Given the description of an element on the screen output the (x, y) to click on. 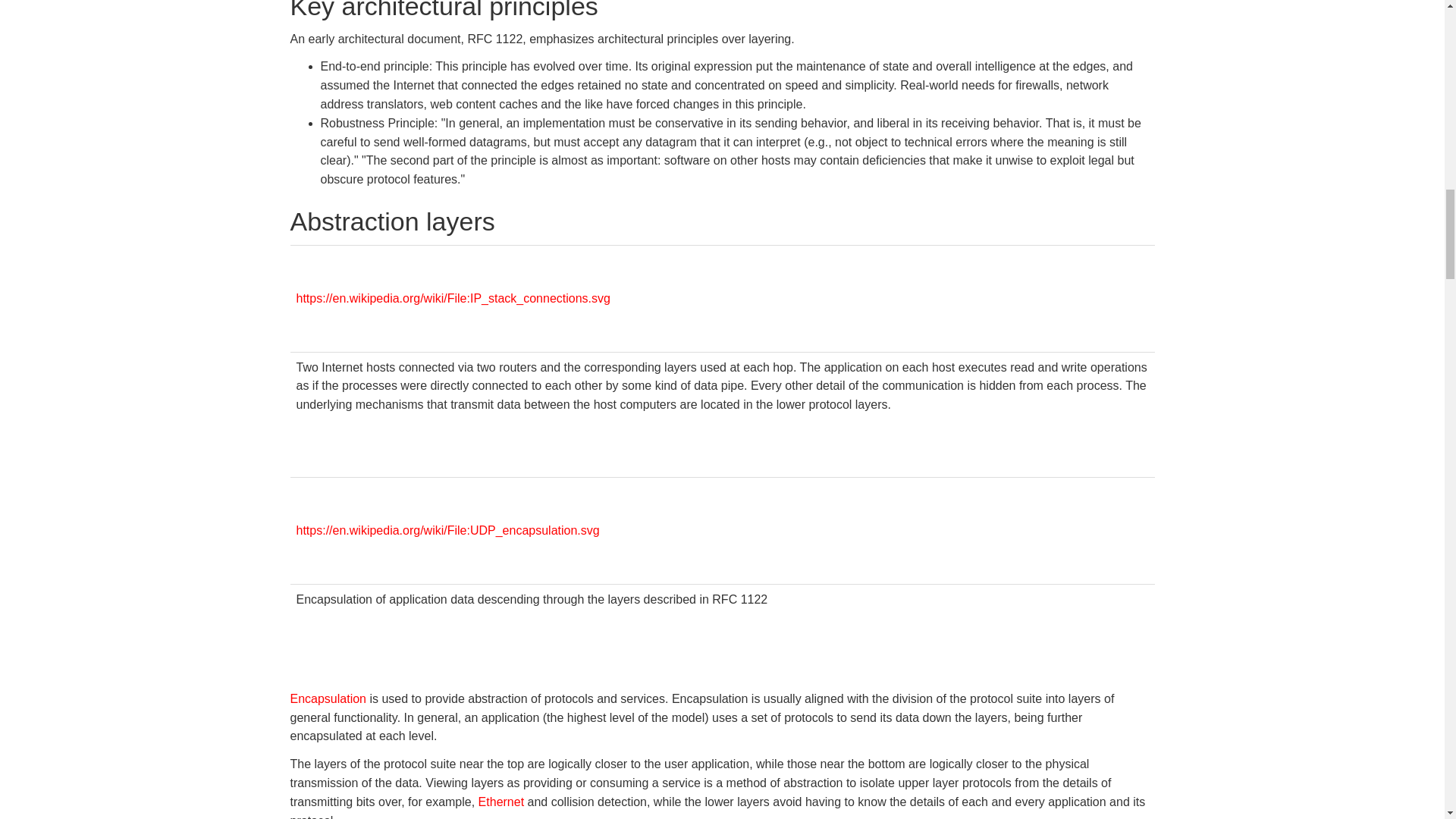
Ethernet (501, 801)
Encapsulation (327, 698)
